Given the description of an element on the screen output the (x, y) to click on. 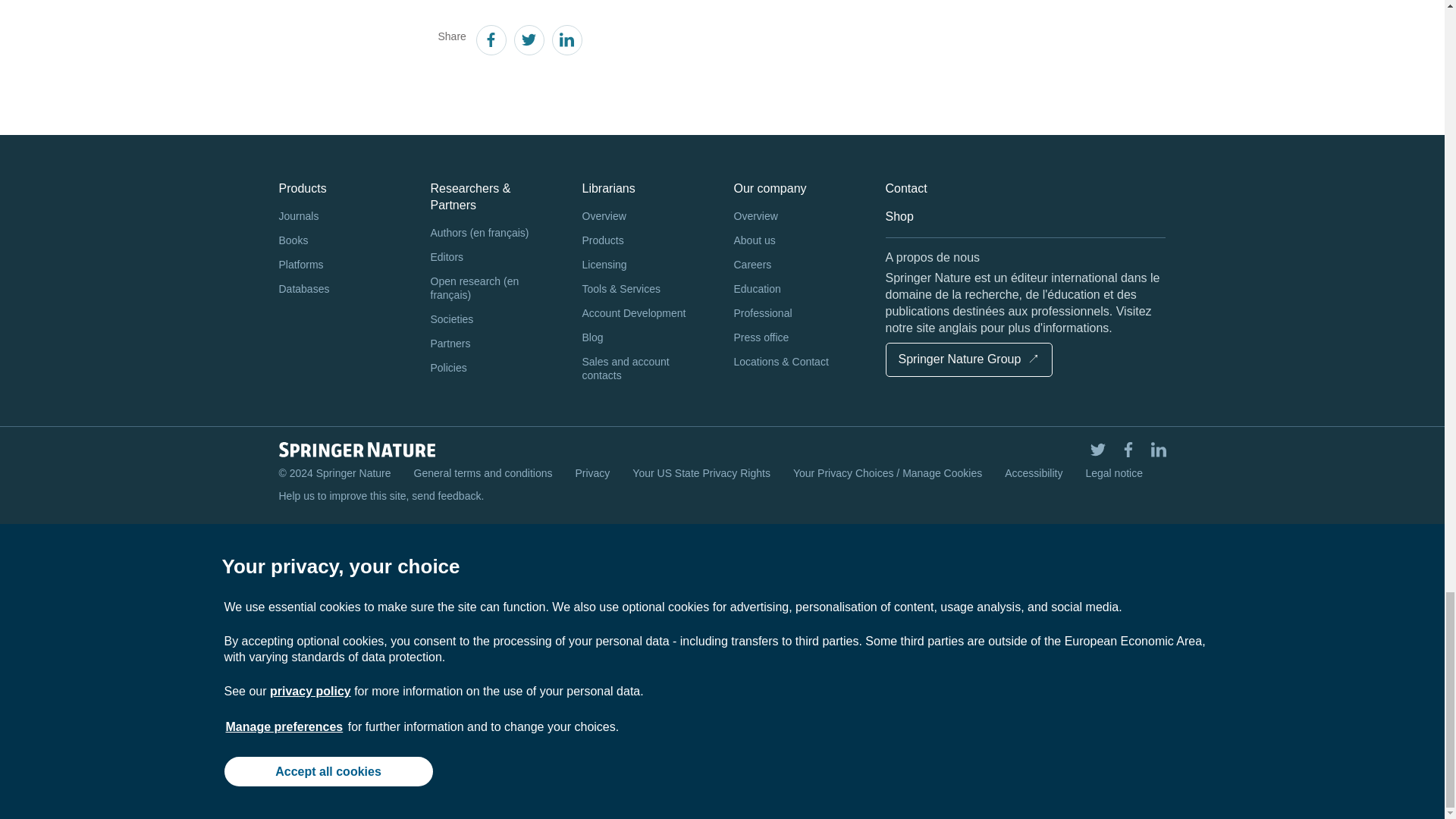
linkedin (566, 42)
Editors (494, 257)
Platforms (343, 265)
Journals (343, 216)
Products (646, 241)
Databases (343, 289)
facebook (490, 42)
Policies (494, 368)
Partners (494, 344)
Overview (646, 216)
Societies (494, 319)
twitter (528, 42)
Books (343, 241)
